Given the description of an element on the screen output the (x, y) to click on. 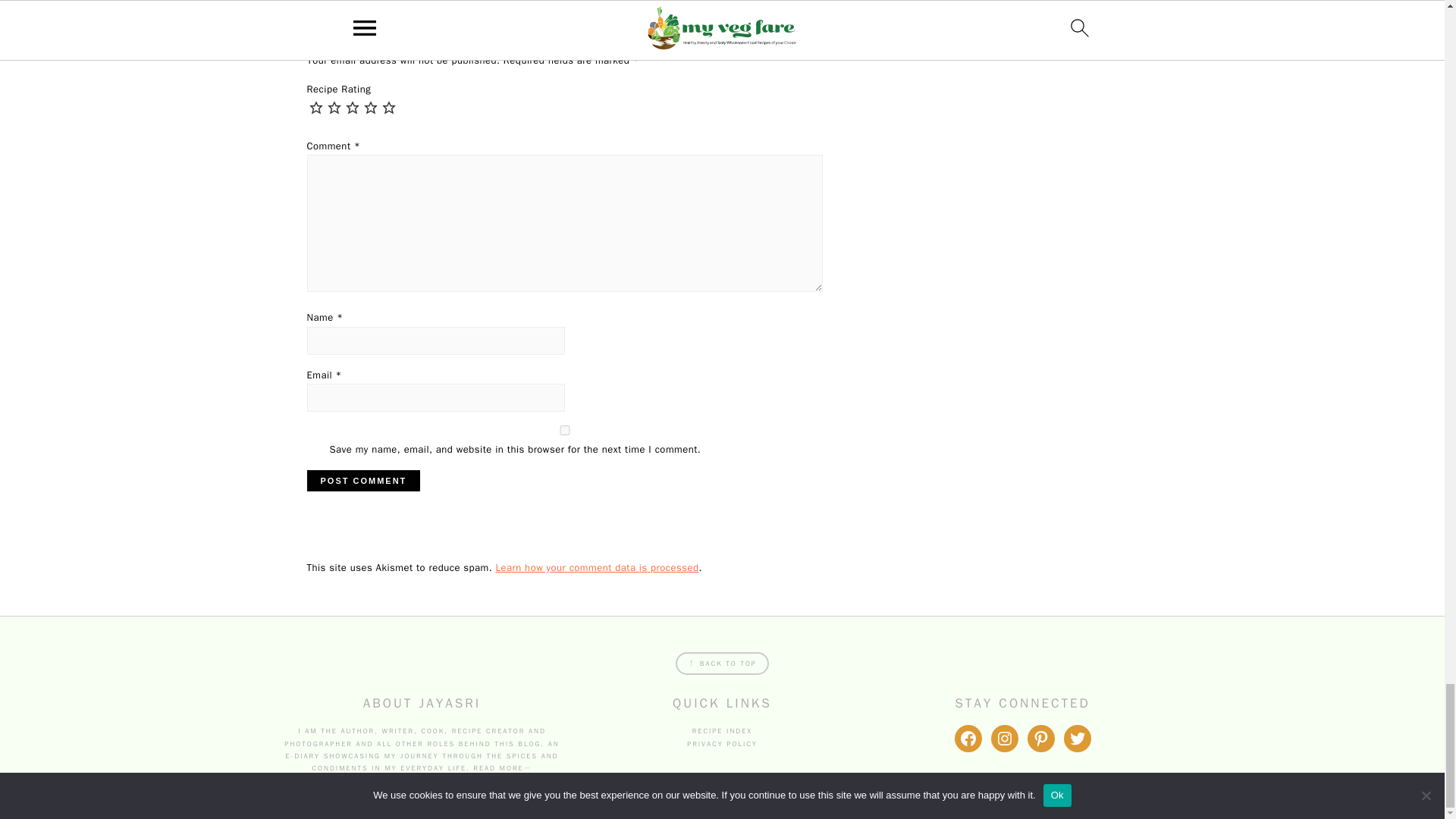
Post Comment (362, 480)
yes (563, 429)
